Given the description of an element on the screen output the (x, y) to click on. 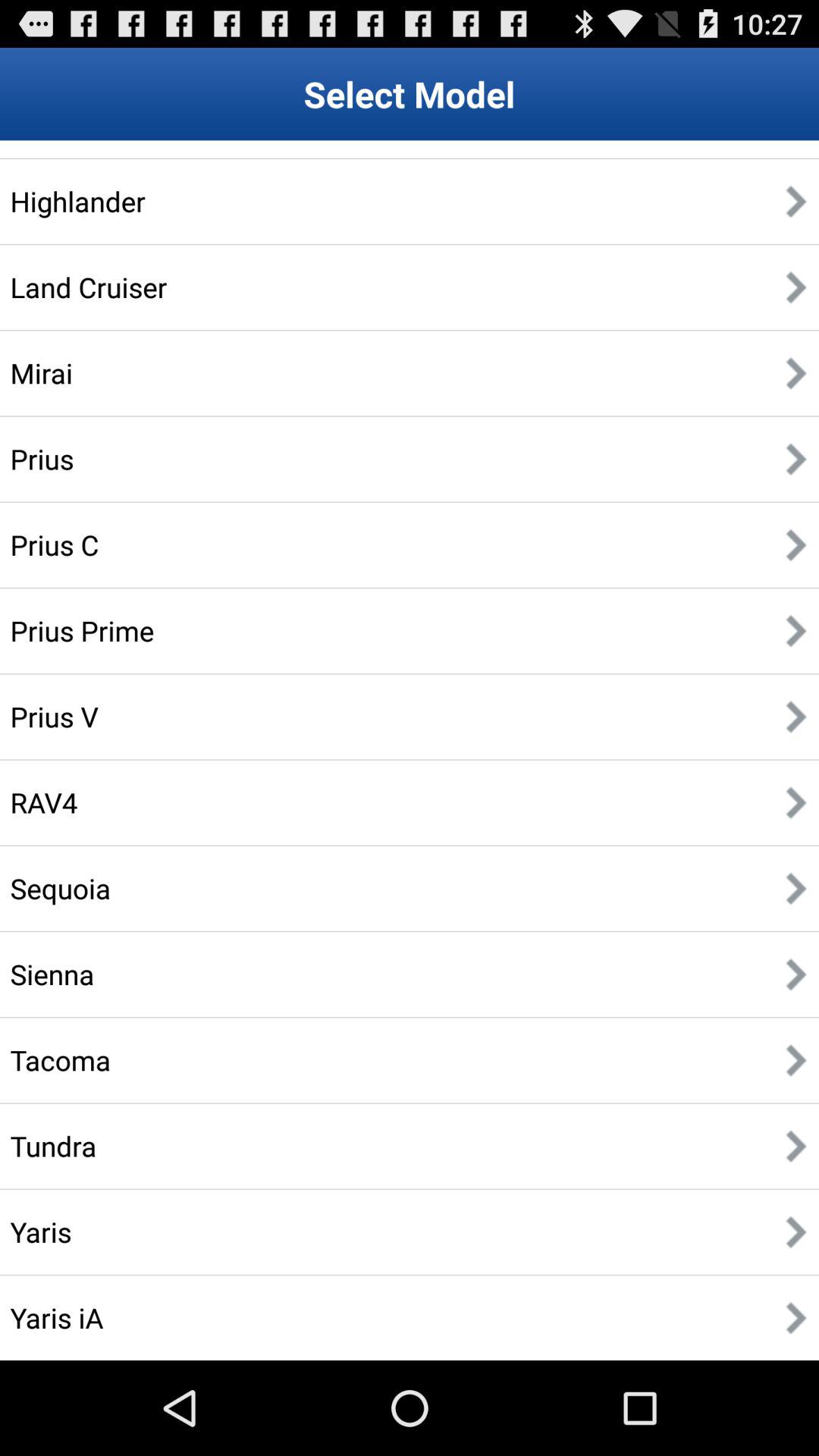
choose rav4 item (43, 802)
